Given the description of an element on the screen output the (x, y) to click on. 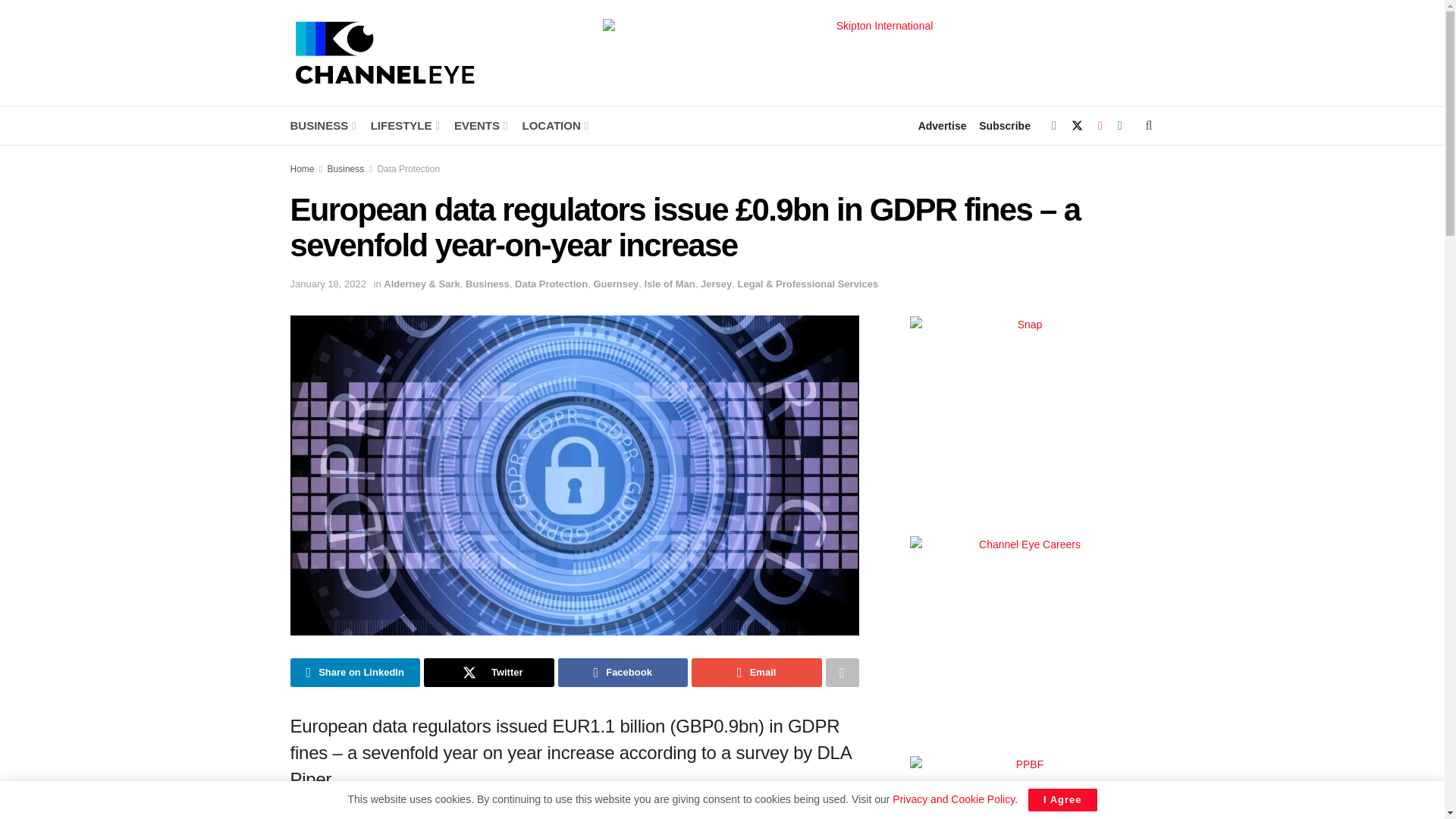
BUSINESS (321, 125)
EVENTS (479, 125)
Advertise (942, 125)
LOCATION (553, 125)
LIFESTYLE (404, 125)
